Given the description of an element on the screen output the (x, y) to click on. 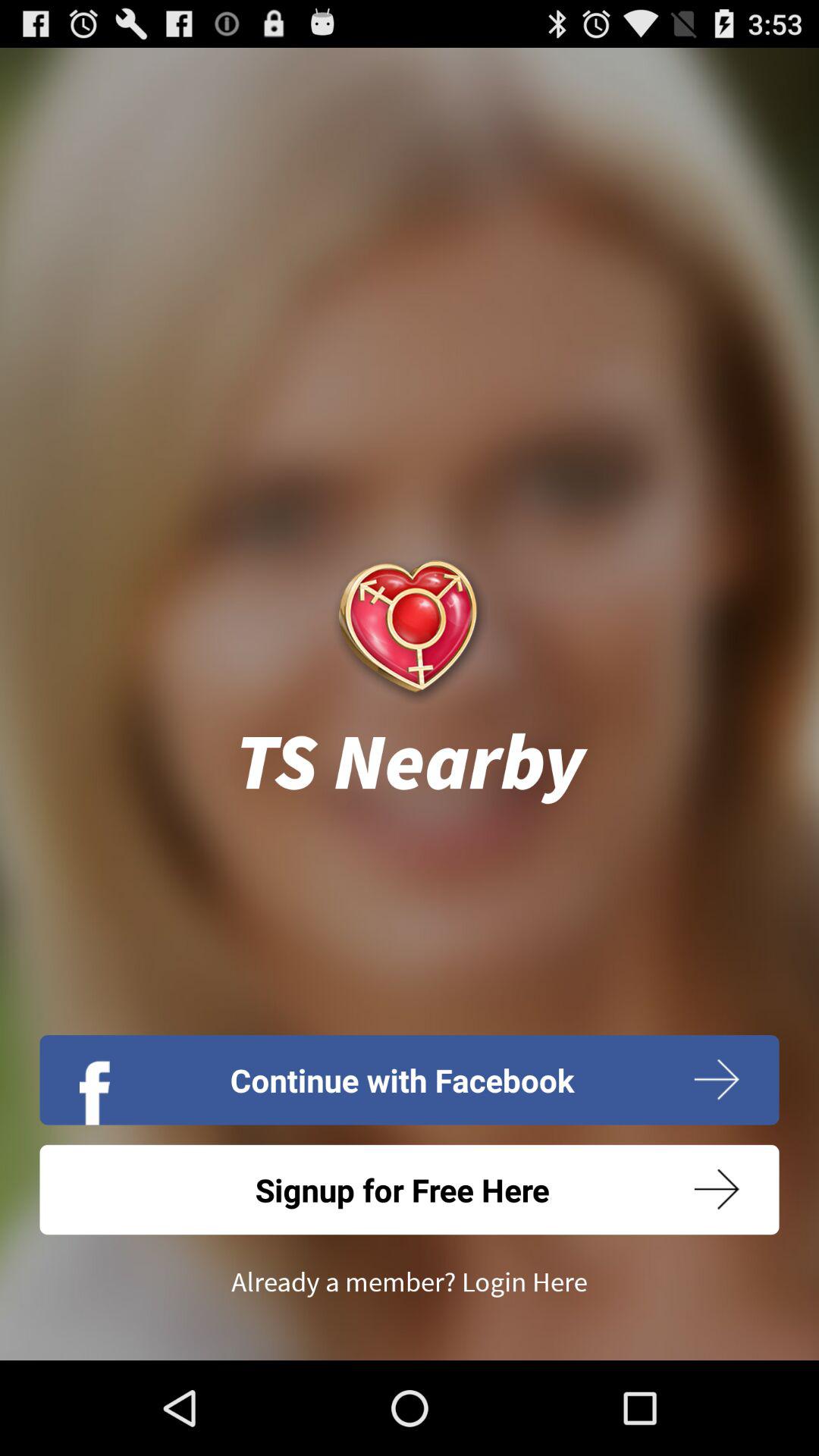
press the button below signup for free item (409, 1282)
